Given the description of an element on the screen output the (x, y) to click on. 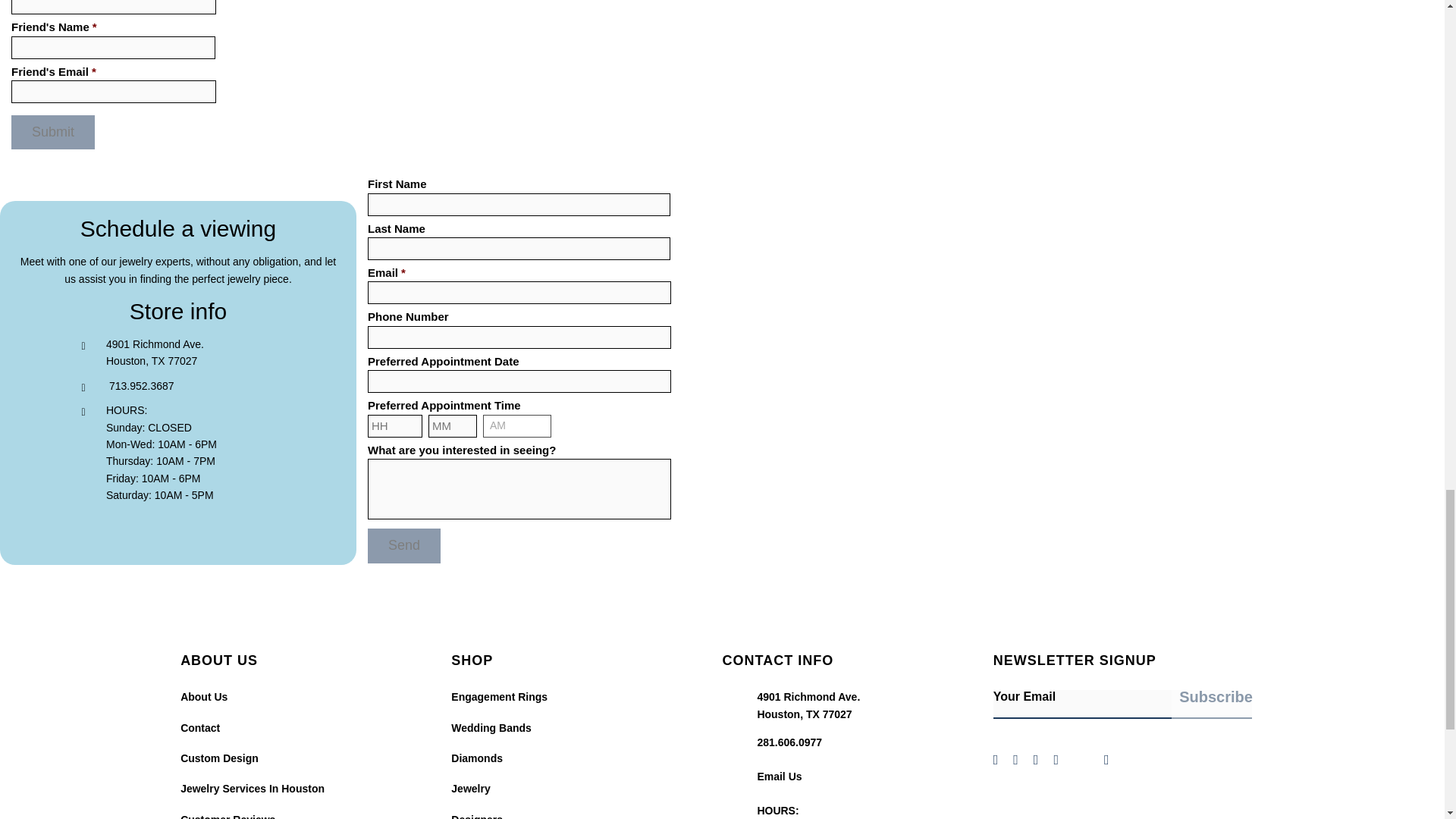
Send (404, 545)
Subscribe (1212, 702)
Submit (52, 132)
